Given the description of an element on the screen output the (x, y) to click on. 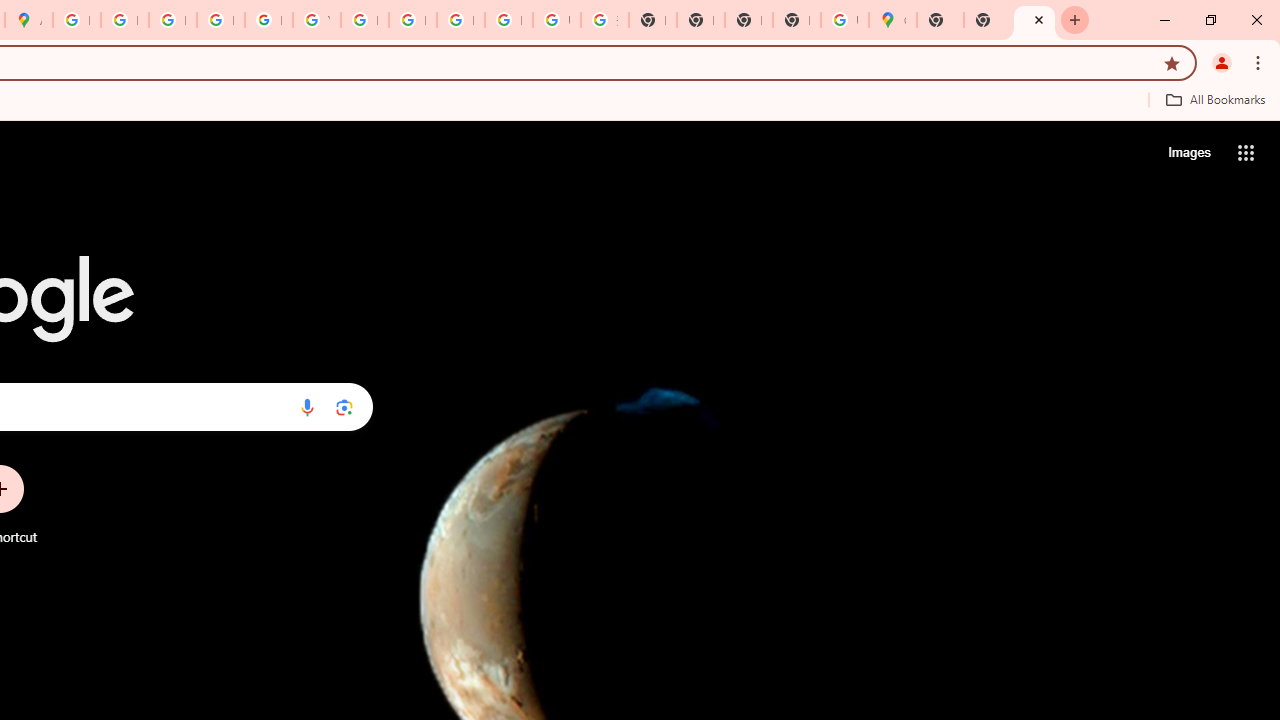
Privacy Help Center - Policies Help (172, 20)
YouTube (316, 20)
Google Maps (892, 20)
New Tab (987, 20)
Use Google Maps in Space - Google Maps Help (844, 20)
New Tab (939, 20)
